Given the description of an element on the screen output the (x, y) to click on. 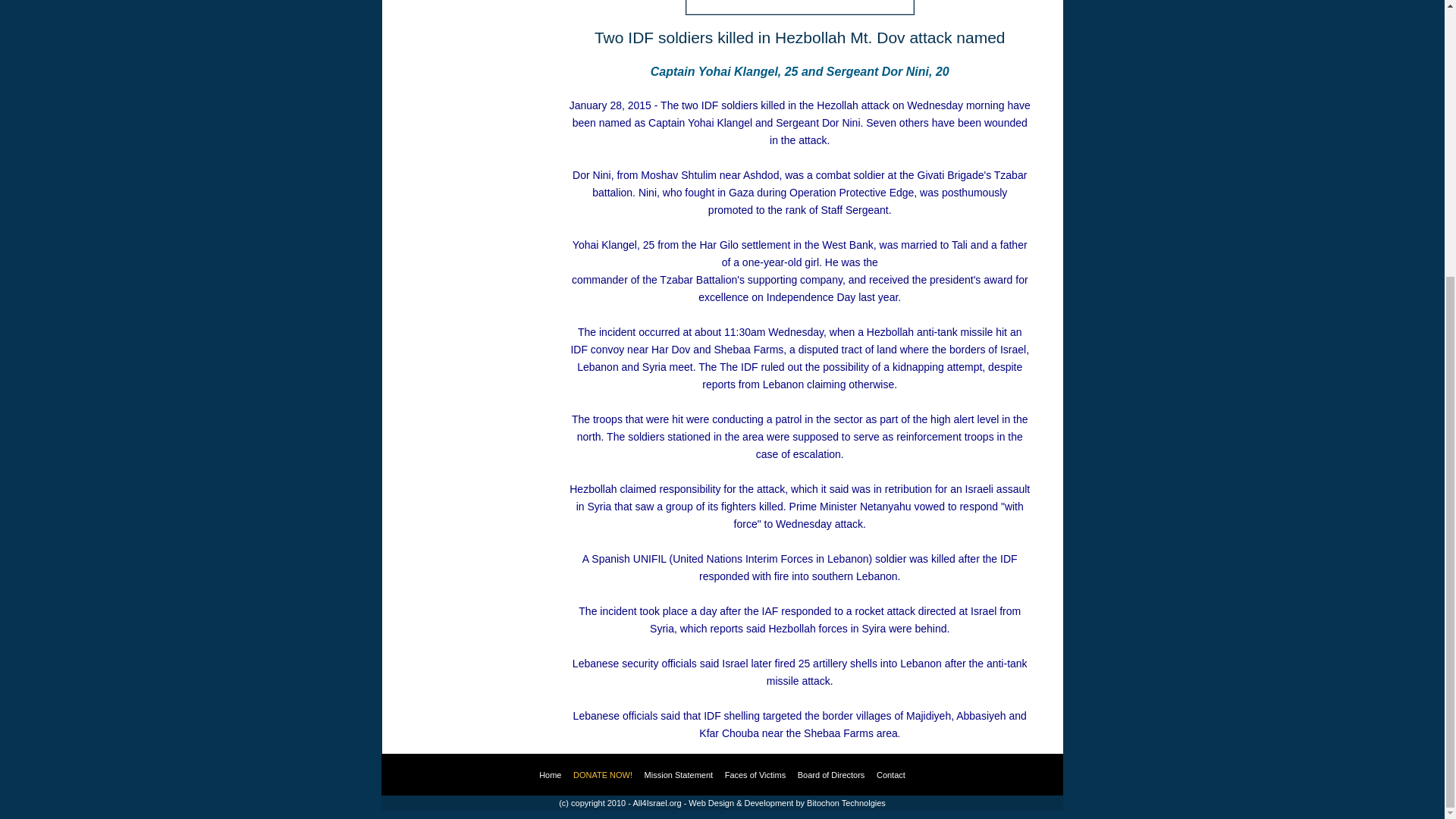
Board of Directors (830, 774)
Faces of Victims (755, 774)
Home (549, 774)
Contact (890, 774)
Mission Statement (679, 774)
DONATE NOW! (602, 774)
